Given the description of an element on the screen output the (x, y) to click on. 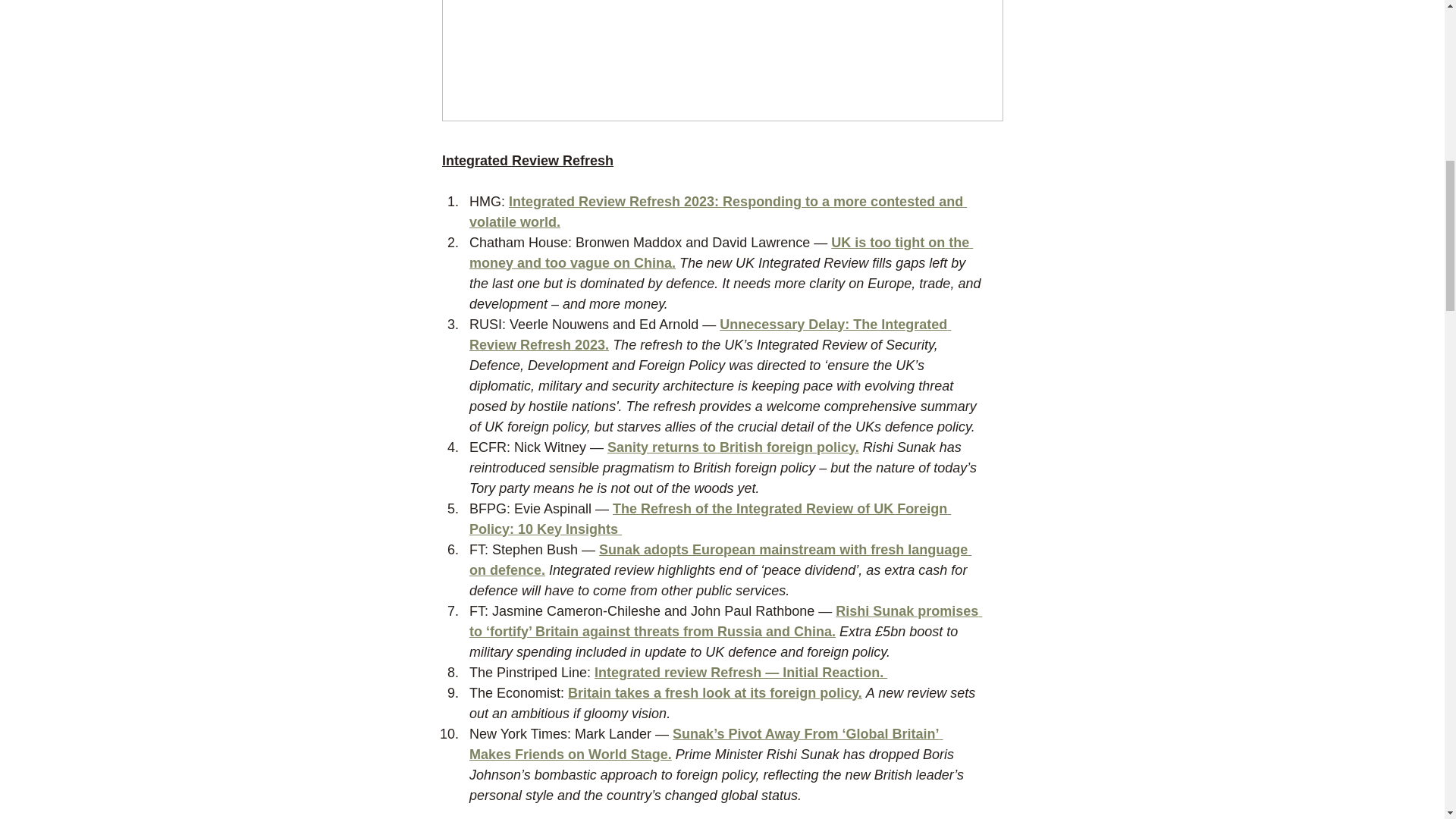
UK is too tight on the money and too vague on China. (720, 253)
Sanity returns to British foreign policy. (733, 447)
Unnecessary Delay: The Integrated Review Refresh 2023. (709, 334)
Britain takes a fresh look at its foreign policy. (714, 693)
